Given the description of an element on the screen output the (x, y) to click on. 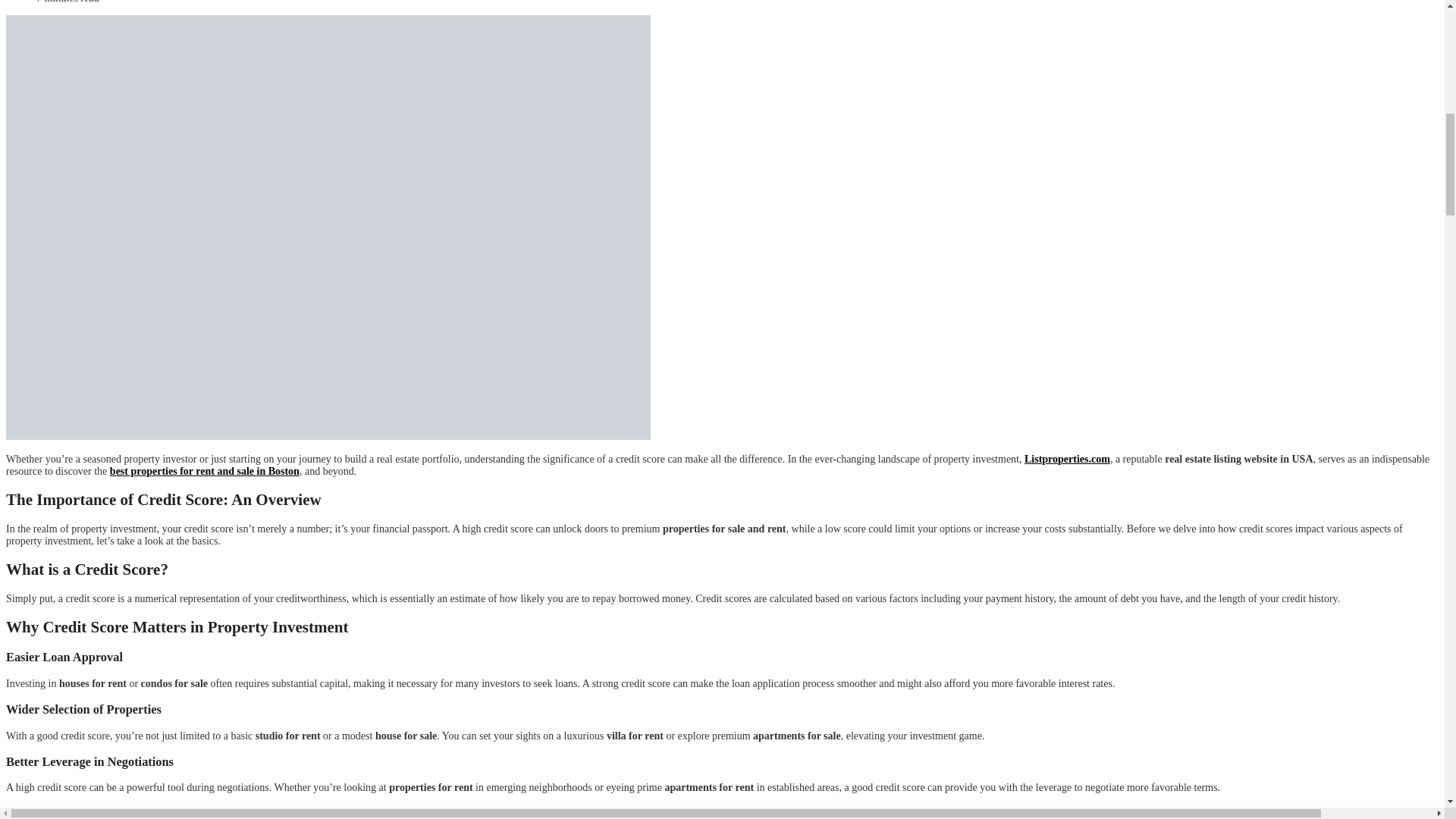
best properties for rent and sale in Boston (204, 471)
Listproperties.com (1067, 459)
